Given the description of an element on the screen output the (x, y) to click on. 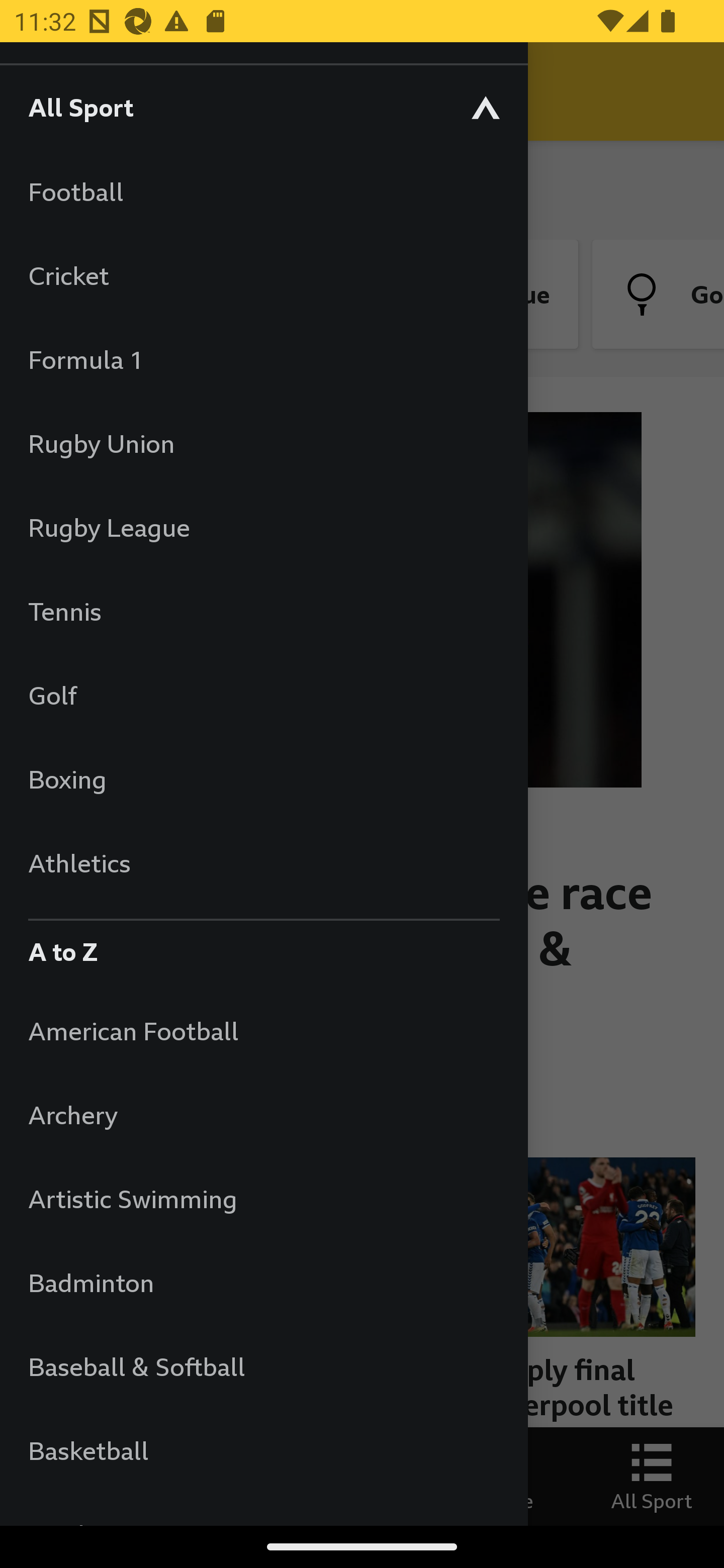
All Sport (263, 106)
Football (263, 190)
Cricket (263, 275)
Formula 1 (263, 358)
Rugby Union (263, 443)
Rugby League (263, 526)
Tennis (263, 611)
Golf (263, 694)
Boxing (263, 778)
Athletics (263, 862)
A to Z (263, 946)
American Football (263, 1029)
Archery (263, 1114)
Artistic Swimming (263, 1198)
Badminton (263, 1282)
Baseball & Softball (263, 1366)
Basketball (263, 1450)
